Given the description of an element on the screen output the (x, y) to click on. 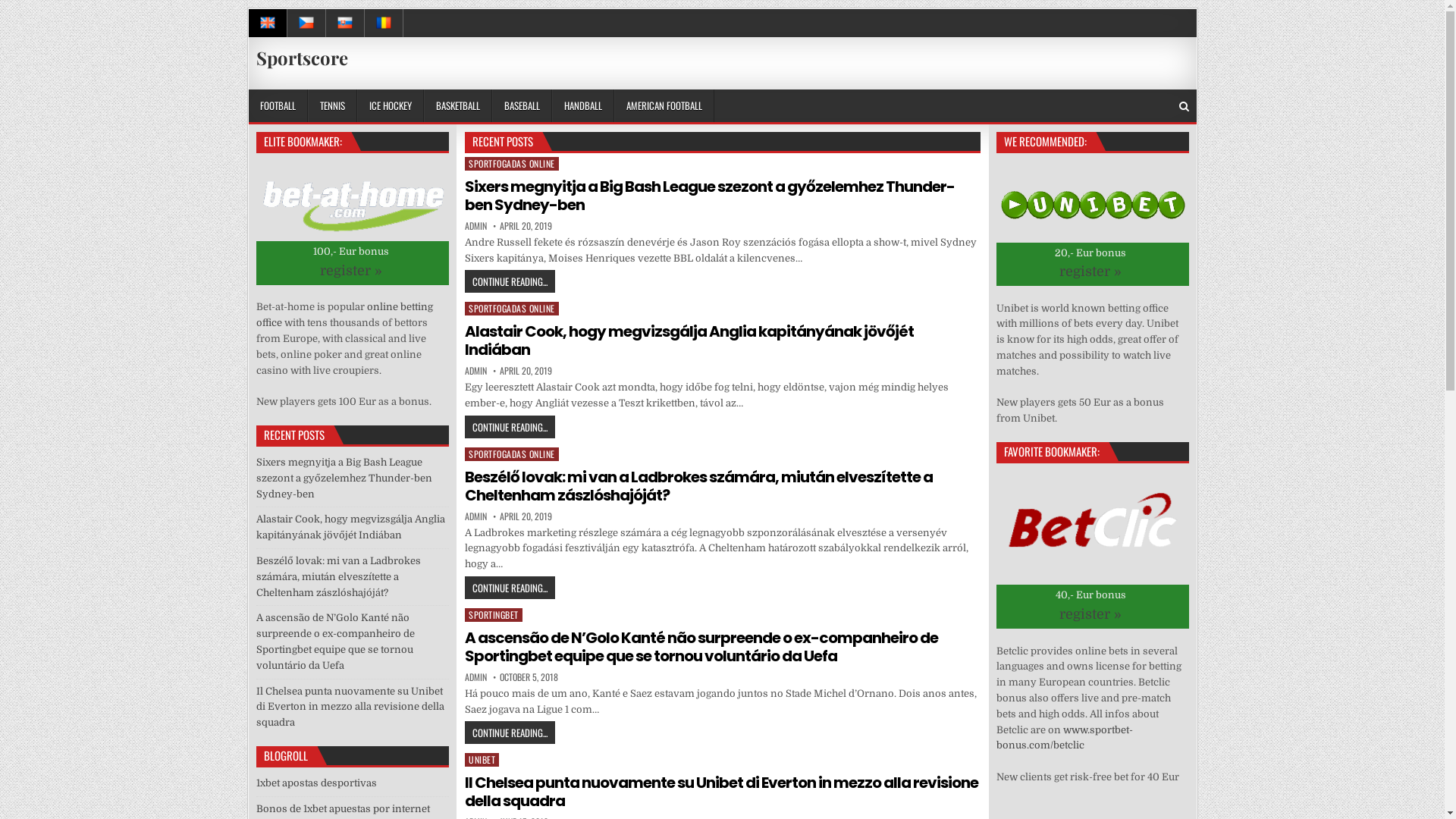
BASEBALL Element type: text (521, 105)
TENNIS Element type: text (332, 105)
live rezultate Element type: hover (383, 23)
AMERICAN FOOTBALL Element type: text (664, 105)
AUTHOR:
ADMIN Element type: text (475, 225)
AUTHOR:
ADMIN Element type: text (475, 515)
Sportscore Element type: text (302, 57)
ICE HOCKEY Element type: text (389, 105)
AUTHOR:
ADMIN Element type: text (475, 370)
livescore Element type: hover (267, 23)
HANDBALL Element type: text (583, 105)
vysledky live Element type: hover (305, 23)
Bonos de 1xbet apuestas por internet Element type: text (342, 808)
SPORTFOGADAS ONLINE Element type: text (511, 163)
SPORTINGBET Element type: text (493, 614)
AUTHOR:
ADMIN Element type: text (475, 676)
BASKETBALL Element type: text (457, 105)
SPORTFOGADAS ONLINE Element type: text (511, 308)
Search Element type: hover (1183, 106)
www.sportbet-bonus.com/betclic Element type: text (1064, 736)
SPORTFOGADAS ONLINE Element type: text (511, 454)
online betting office Element type: text (344, 314)
1xbet apostas desportivas Element type: text (316, 782)
zive vysledky Element type: hover (345, 23)
UNIBET Element type: text (481, 759)
FOOTBALL Element type: text (277, 105)
